Given the description of an element on the screen output the (x, y) to click on. 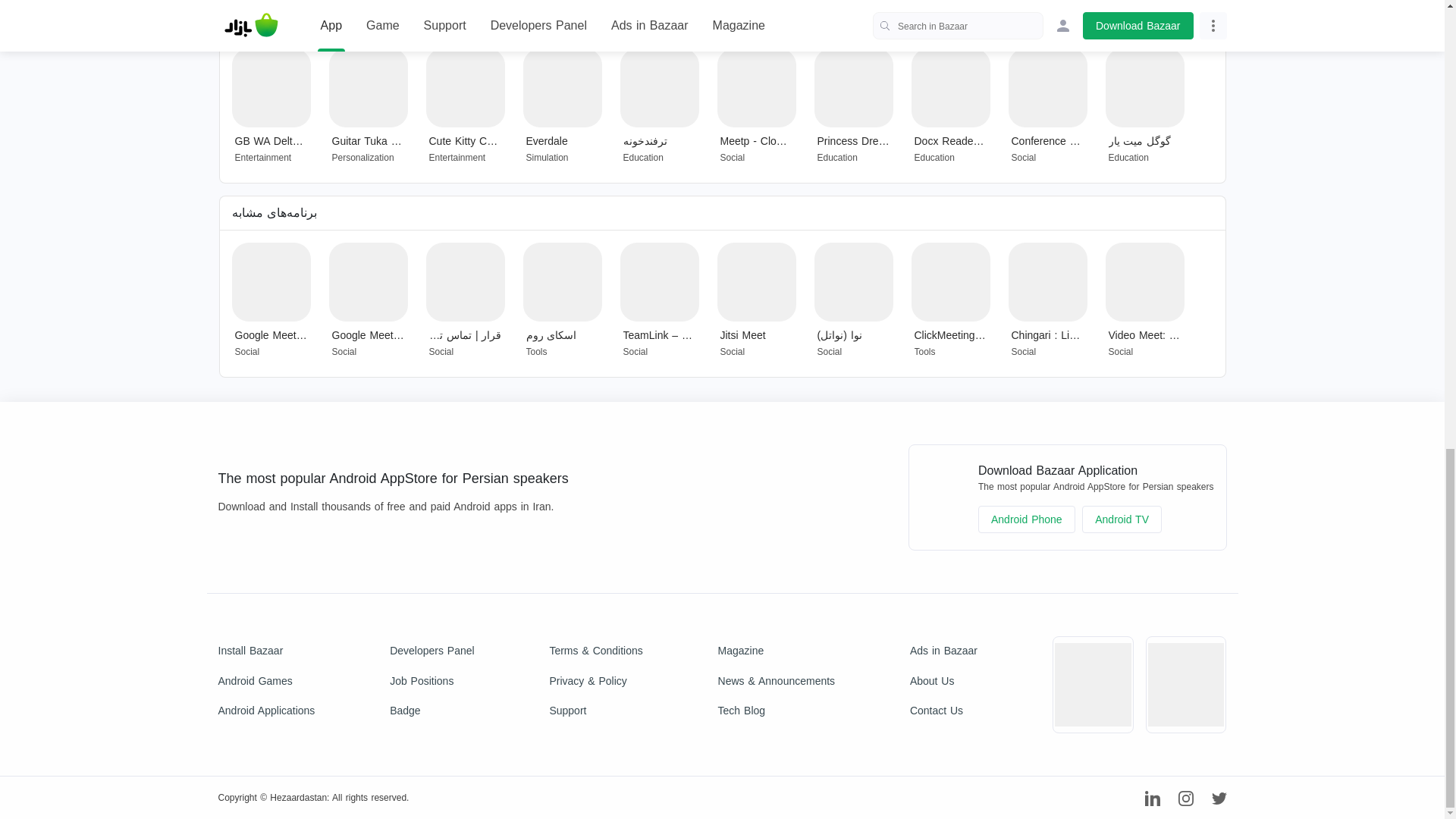
Install Bazaar (266, 650)
Android Games (266, 681)
